Given the description of an element on the screen output the (x, y) to click on. 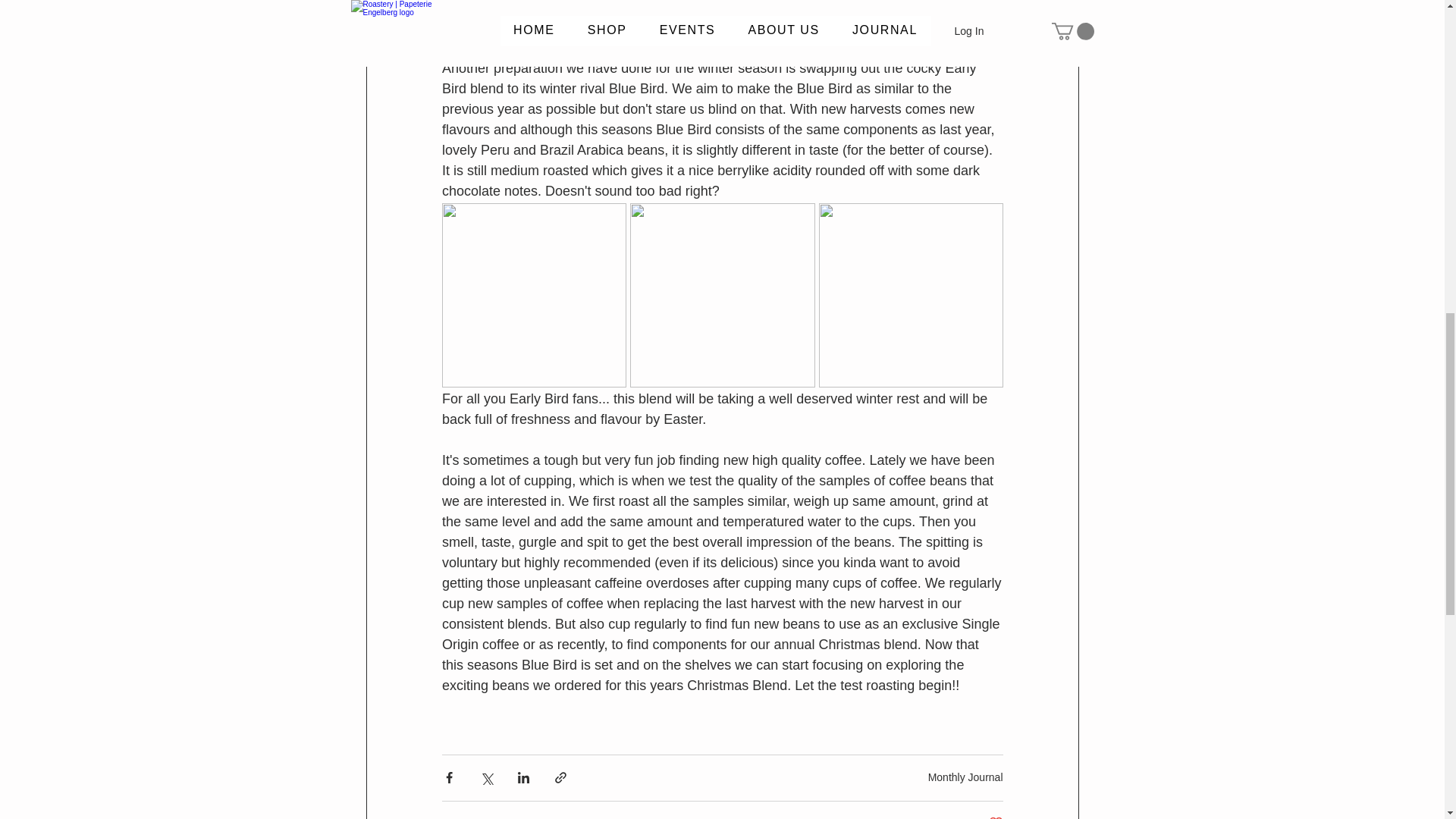
Monthly Journal (965, 776)
Post not marked as liked (995, 816)
